Given the description of an element on the screen output the (x, y) to click on. 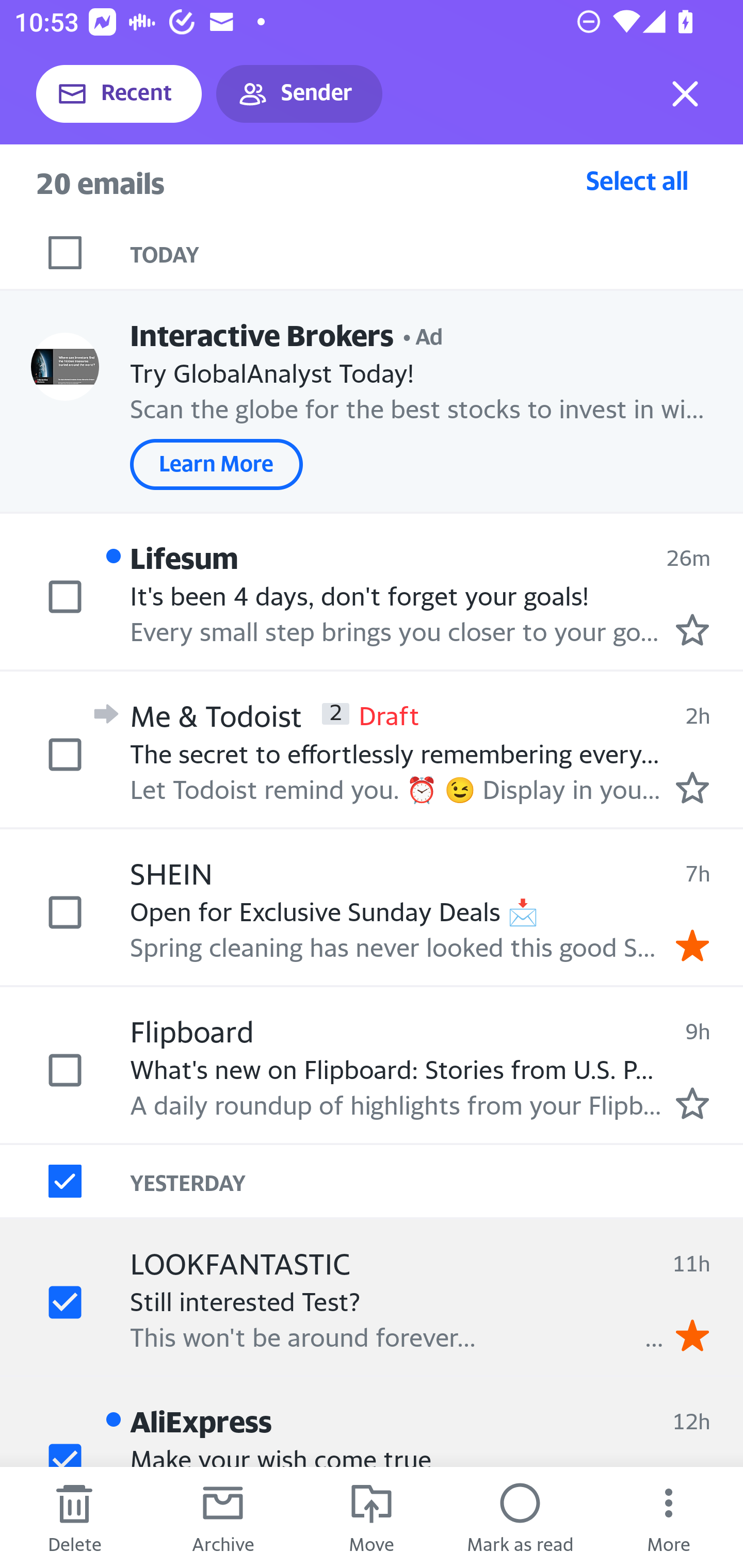
Sender (299, 93)
Exit selection mode (684, 93)
Select all (637, 180)
TODAY (436, 252)
Mark as starred. (692, 629)
Mark as starred. (692, 787)
Remove star. (692, 944)
Mark as starred. (692, 1103)
YESTERDAY (436, 1181)
Remove star. (692, 1335)
Delete (74, 1517)
Archive (222, 1517)
Move (371, 1517)
Mark as read (519, 1517)
More (668, 1517)
